Given the description of an element on the screen output the (x, y) to click on. 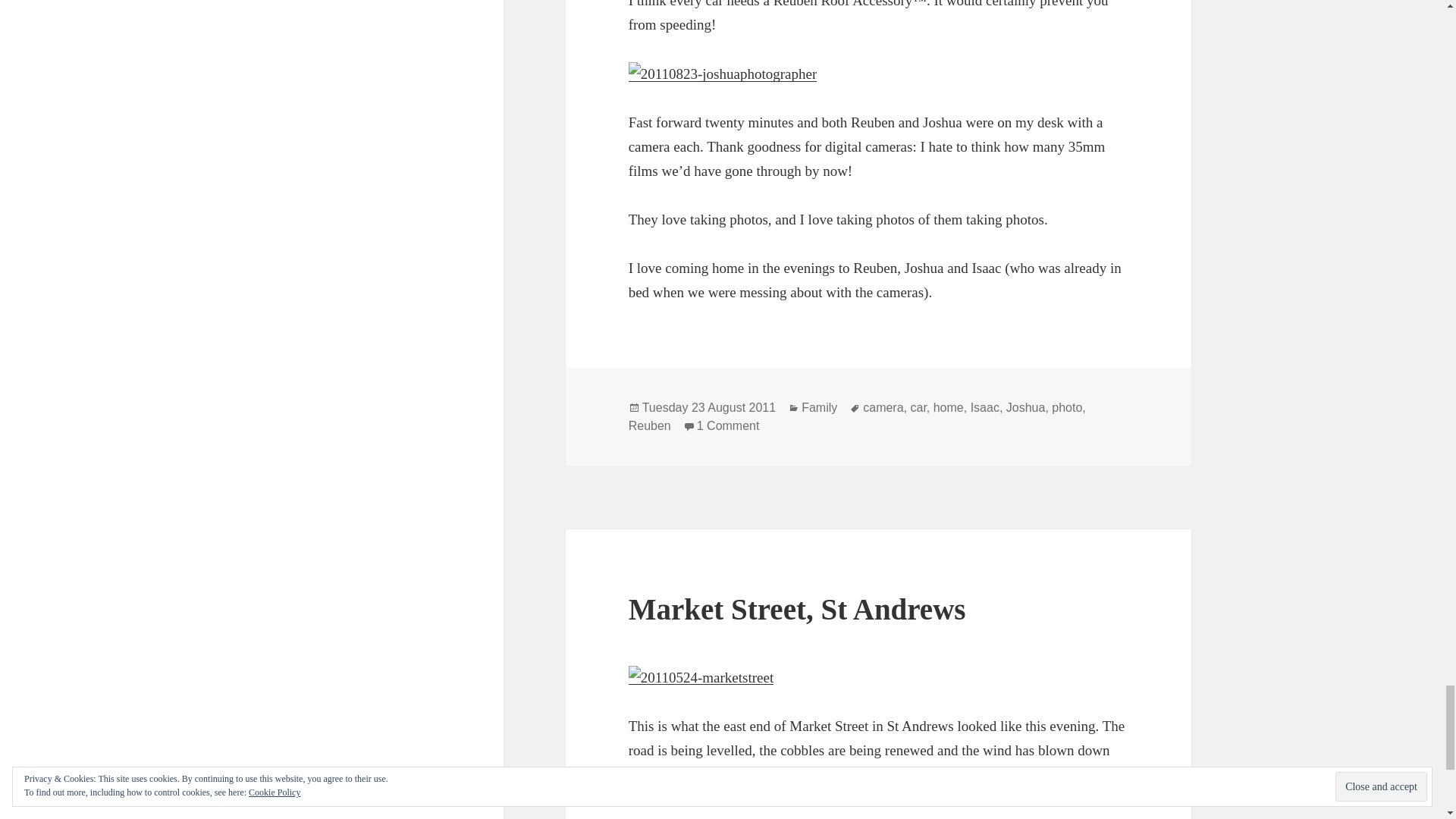
20110524-marketstreet (701, 677)
20110823-joshuaphotographer (722, 74)
